Given the description of an element on the screen output the (x, y) to click on. 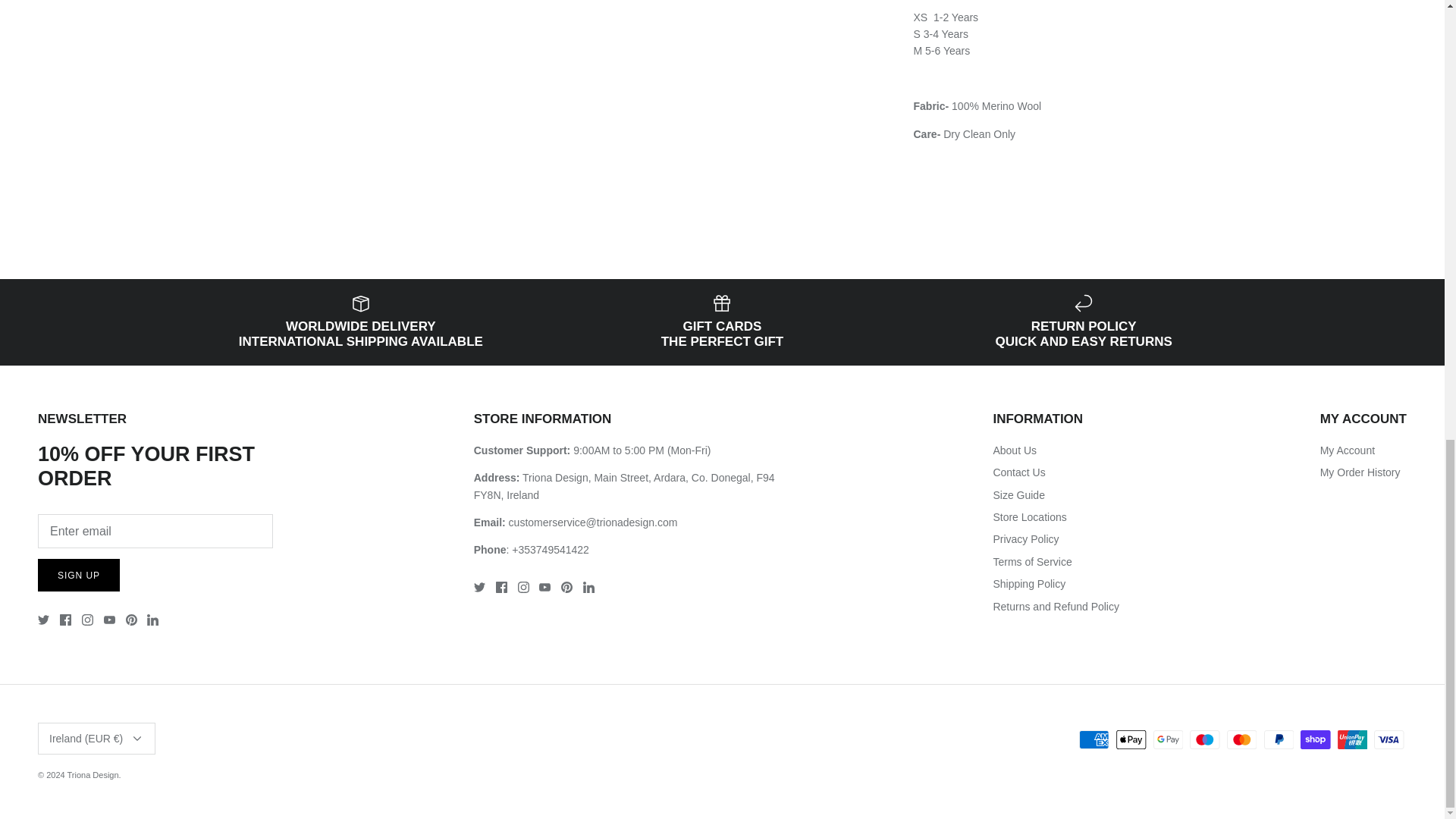
Instagram (87, 619)
Twitter (43, 619)
Facebook (65, 619)
